Given the description of an element on the screen output the (x, y) to click on. 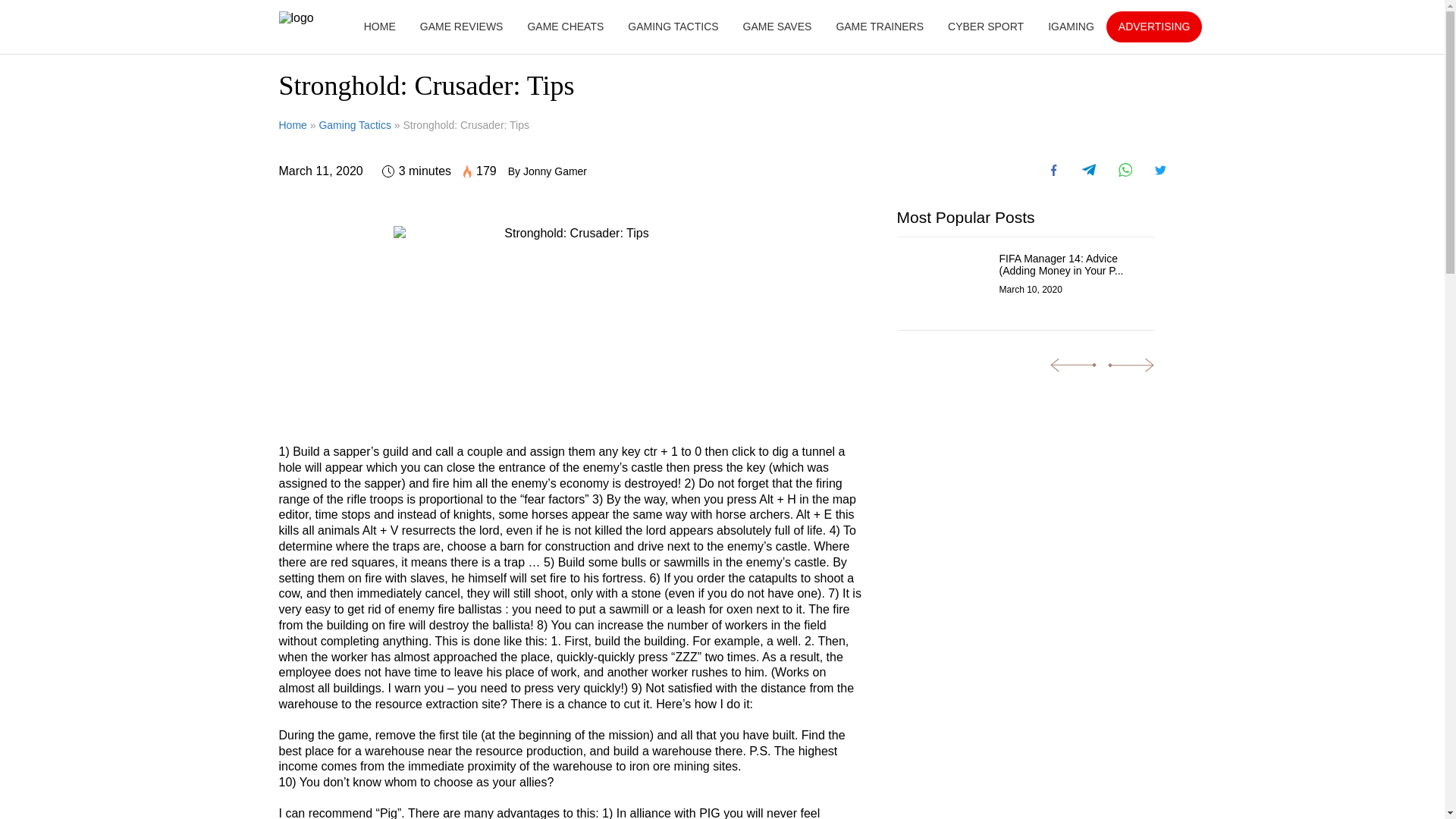
Home (293, 124)
IGAMING (1071, 26)
GAME TRAINERS (879, 26)
Gaming Tactics (354, 124)
logo (296, 18)
HOME (380, 26)
ADVERTISING (1154, 26)
GAME SAVES (777, 26)
GAME CHEATS (565, 26)
Jonny Gamer (554, 171)
